Given the description of an element on the screen output the (x, y) to click on. 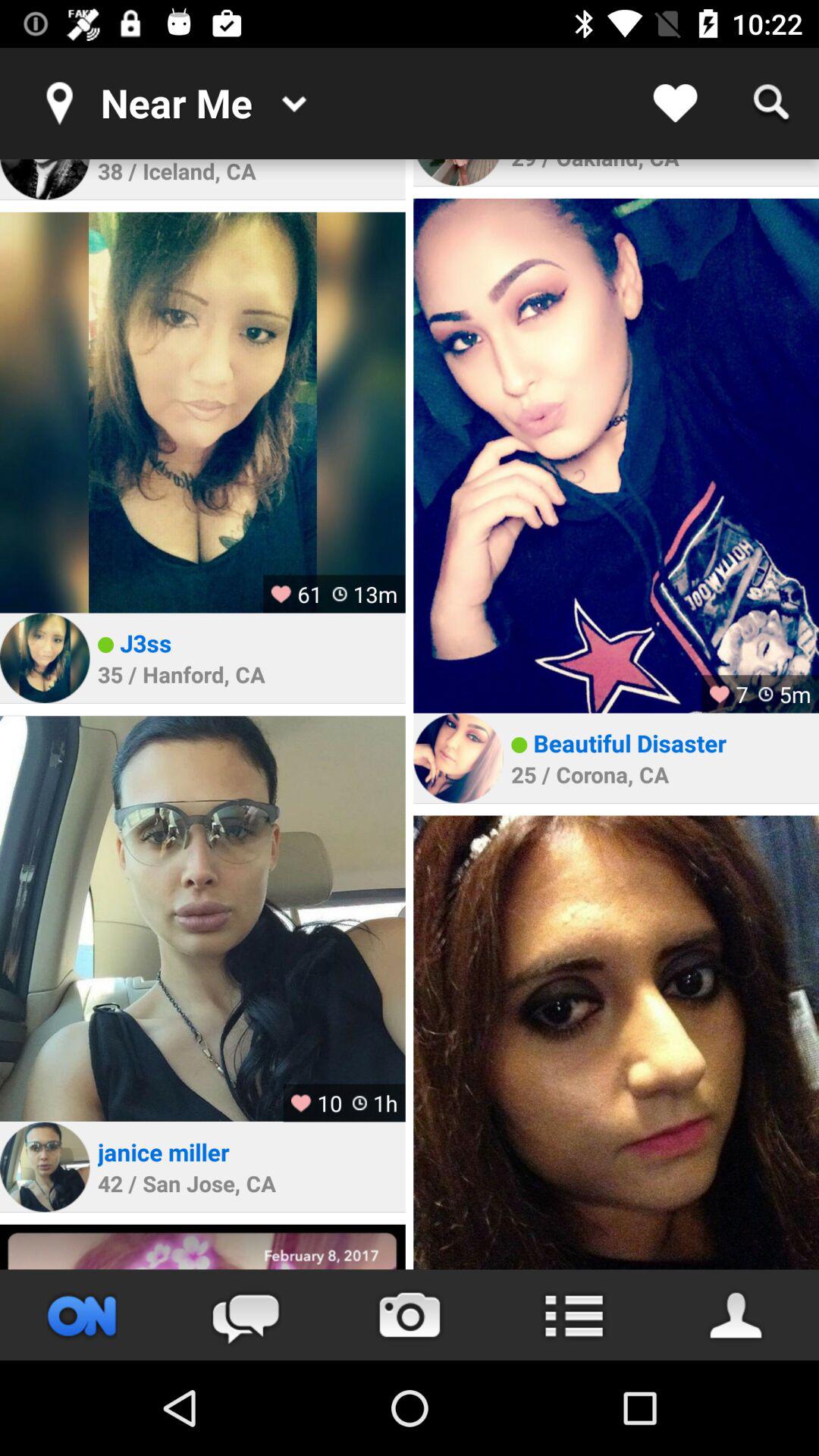
go to camera (409, 1315)
